Given the description of an element on the screen output the (x, y) to click on. 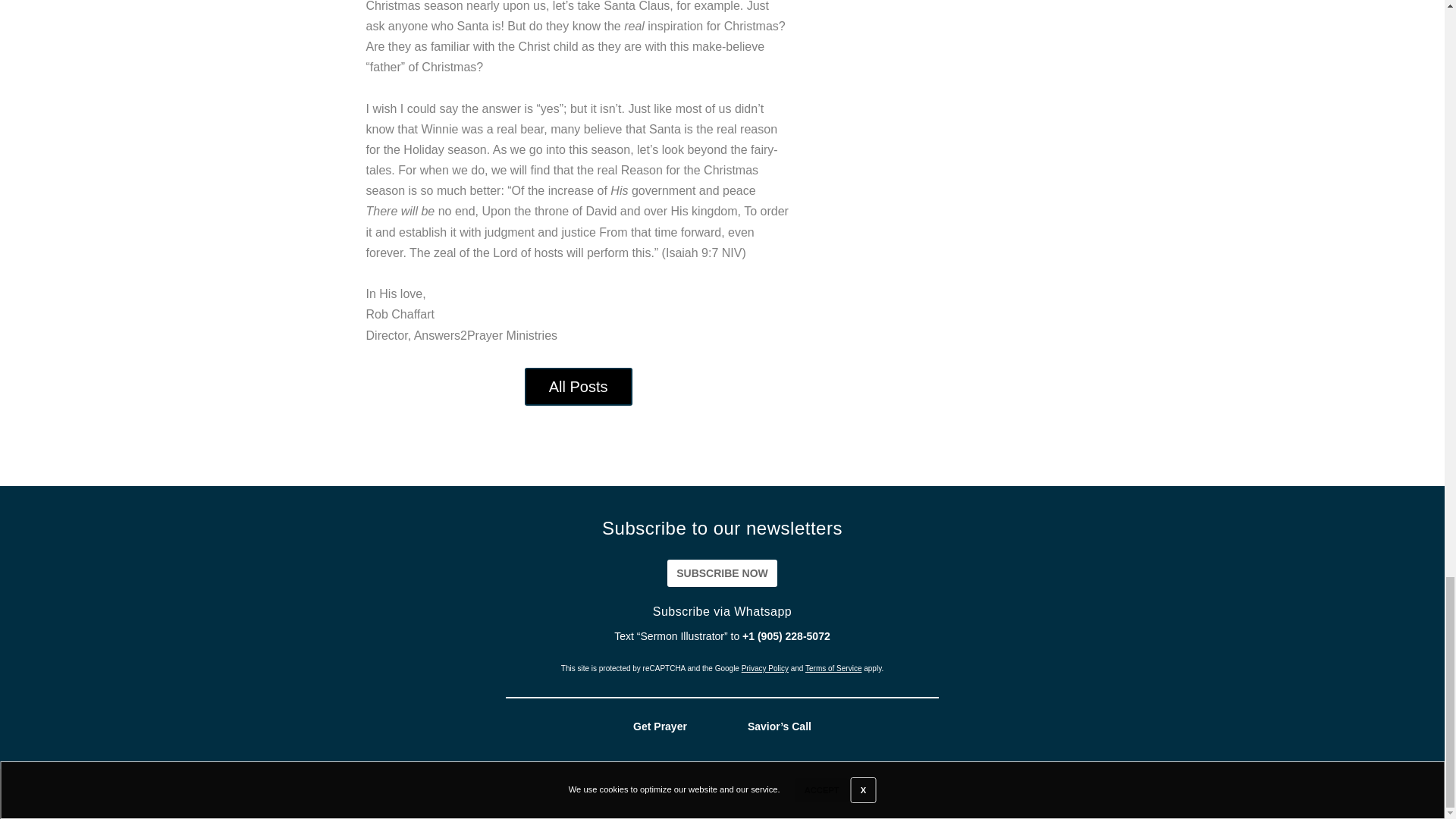
All Posts (577, 386)
Contact Us (1387, 793)
Get Prayer (659, 726)
Privacy Policy (765, 668)
Terms of Service (833, 668)
Subscribe now (721, 573)
Answers2Prayer (873, 793)
Subscribe now (721, 573)
